Given the description of an element on the screen output the (x, y) to click on. 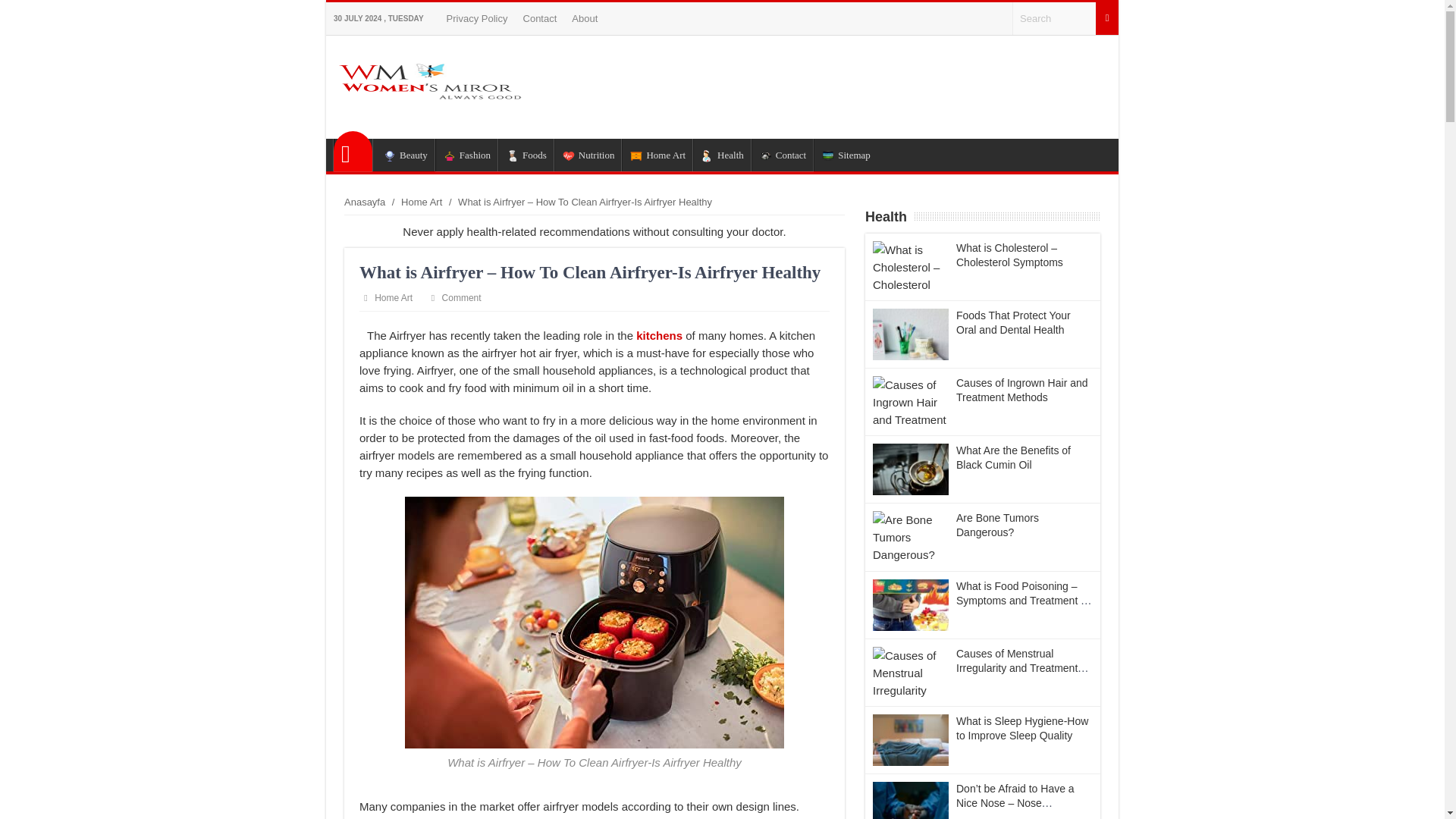
Womans Mirror (445, 114)
Womans Mirror (352, 151)
Comment (461, 297)
Sitemap (845, 154)
Privacy Policy (477, 18)
Contact (782, 154)
Anasayfa (352, 151)
Home Art (421, 202)
Fashion (466, 154)
Home Art (393, 297)
Foods (526, 154)
Nutrition (588, 154)
Beauty (405, 154)
kitchens (660, 335)
Home Art (658, 154)
